Given the description of an element on the screen output the (x, y) to click on. 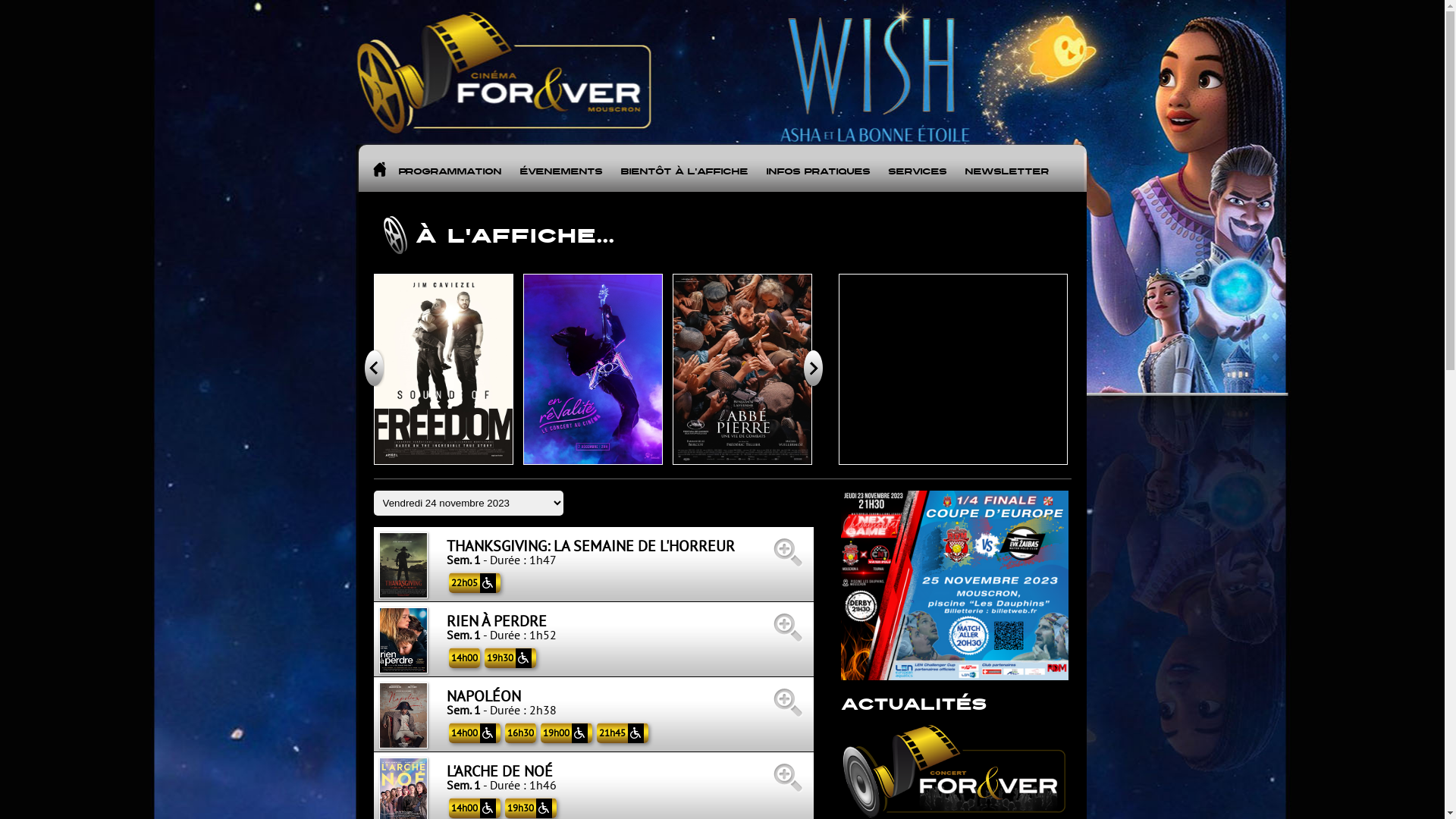
19h00 Element type: text (565, 732)
14h00 Element type: text (464, 657)
Programmation Element type: text (449, 167)
22h05 Element type: text (474, 582)
21h45 Element type: text (621, 732)
16h30 Element type: text (520, 732)
Services Element type: text (916, 167)
19h30 Element type: text (509, 657)
Infos Pratiques Element type: text (817, 167)
YouTube video player Element type: hover (952, 369)
Sound of Freedom Element type: hover (442, 368)
19h30 Element type: text (530, 807)
14h00 Element type: text (474, 807)
14h00 Element type: text (474, 732)
Newsletter Element type: text (1006, 167)
THANKSGIVING: LA SEMAINE DE L'HORREUR Element type: text (627, 552)
